Given the description of an element on the screen output the (x, y) to click on. 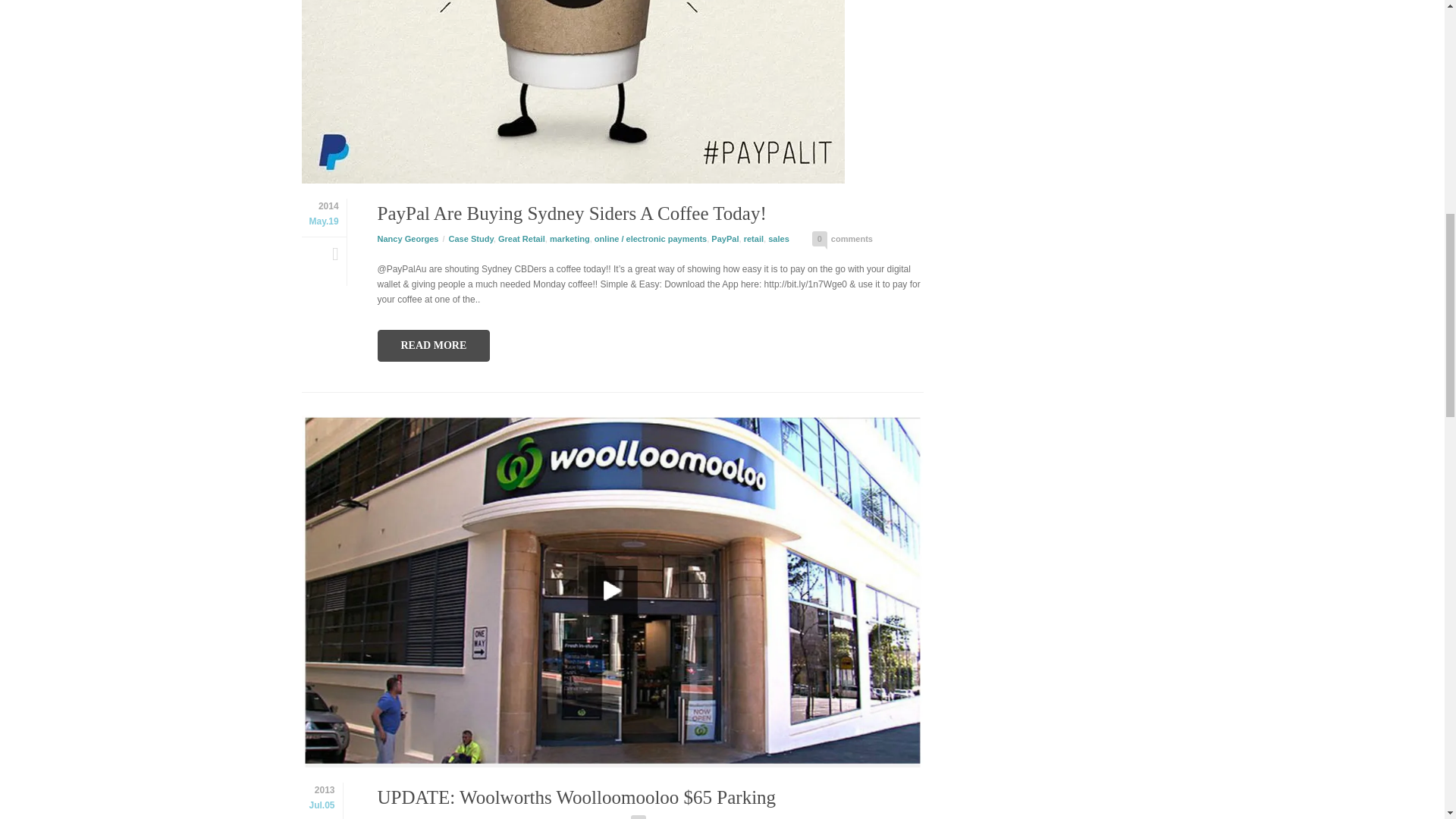
View all posts by Nancy Georges (408, 237)
View all posts by Nancy Georges (408, 818)
